Given the description of an element on the screen output the (x, y) to click on. 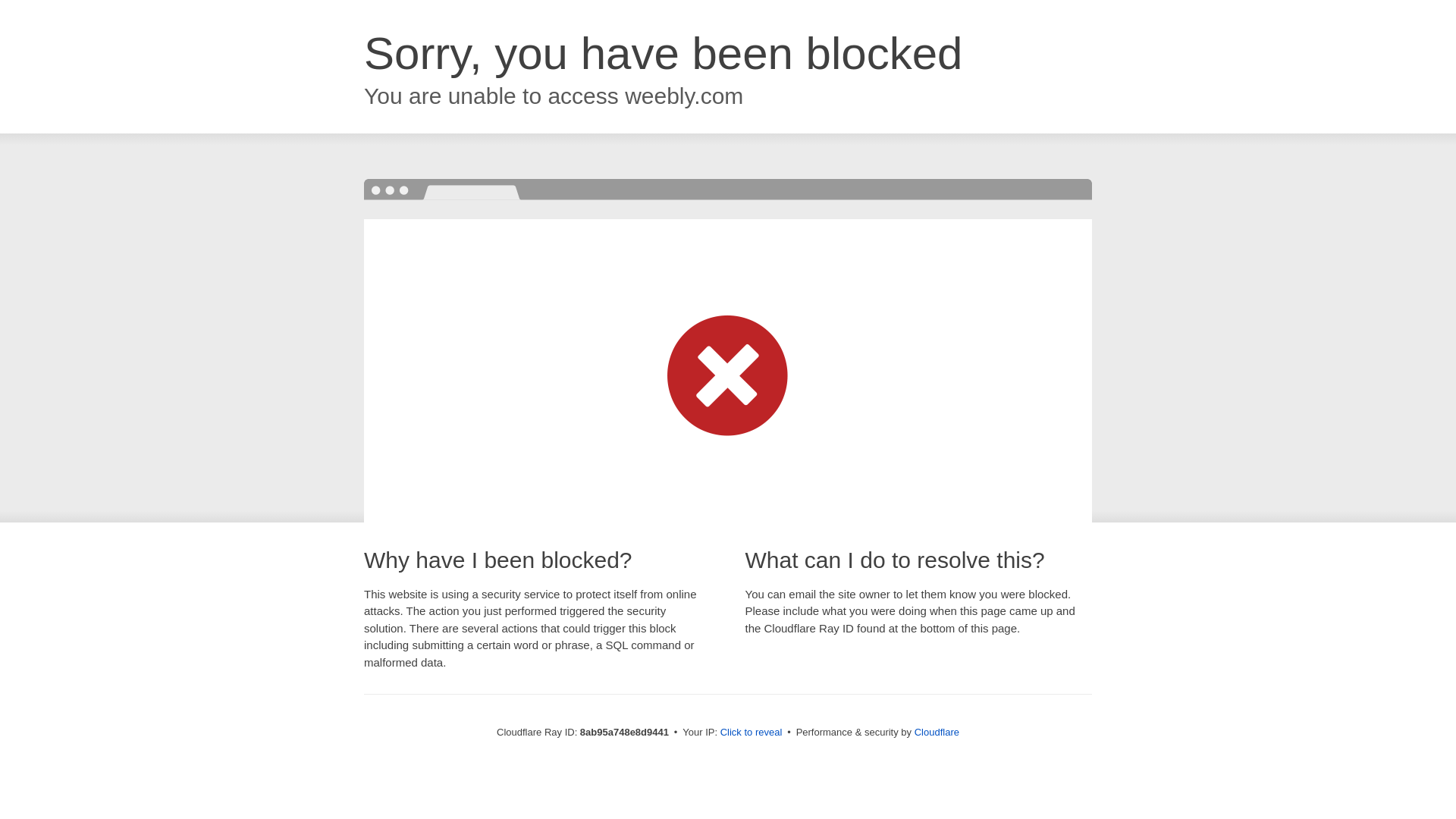
Click to reveal (751, 732)
Cloudflare (936, 731)
